Given the description of an element on the screen output the (x, y) to click on. 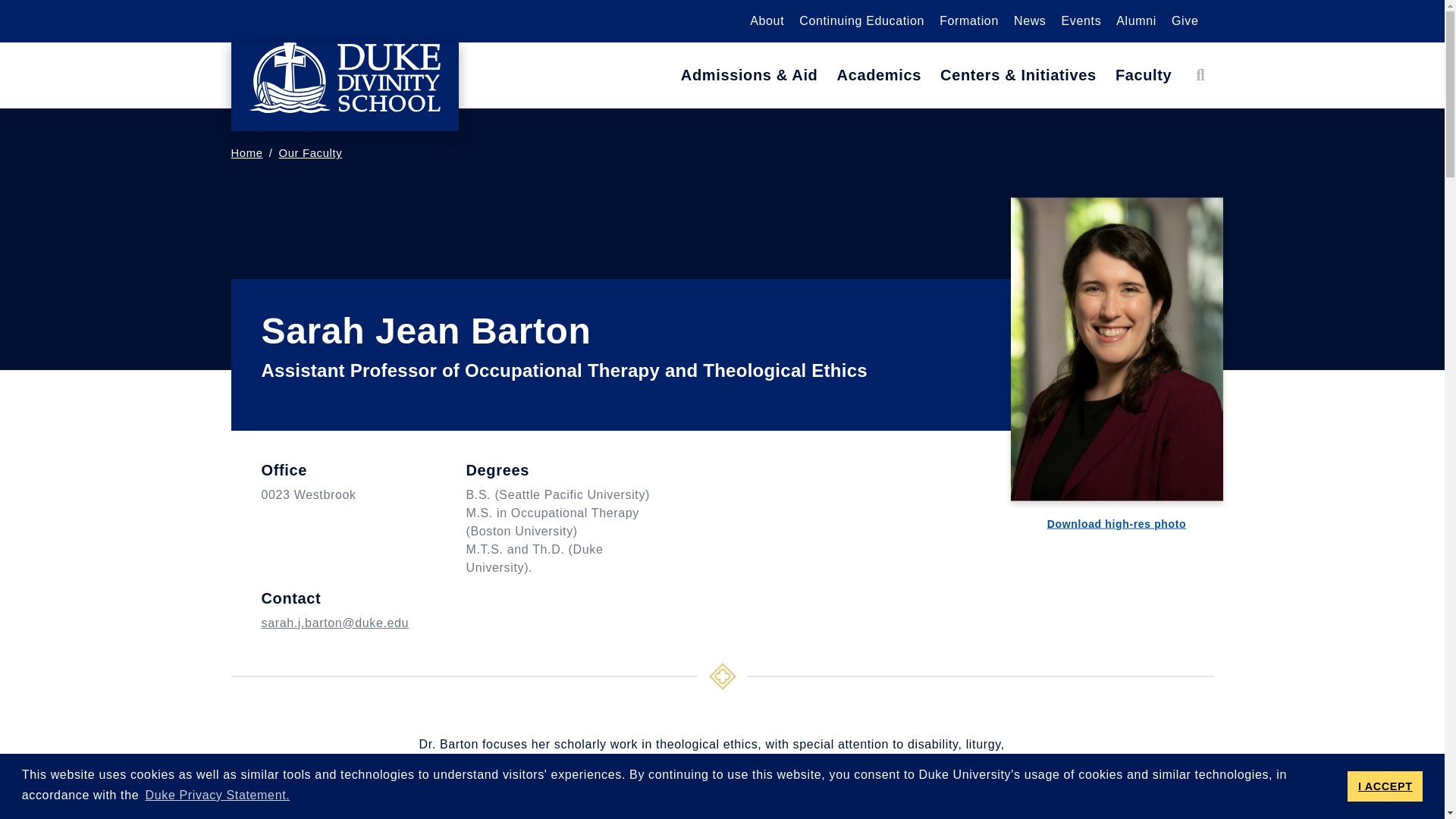
I ACCEPT (1385, 786)
Duke Privacy Statement. (217, 794)
Home (344, 86)
